Given the description of an element on the screen output the (x, y) to click on. 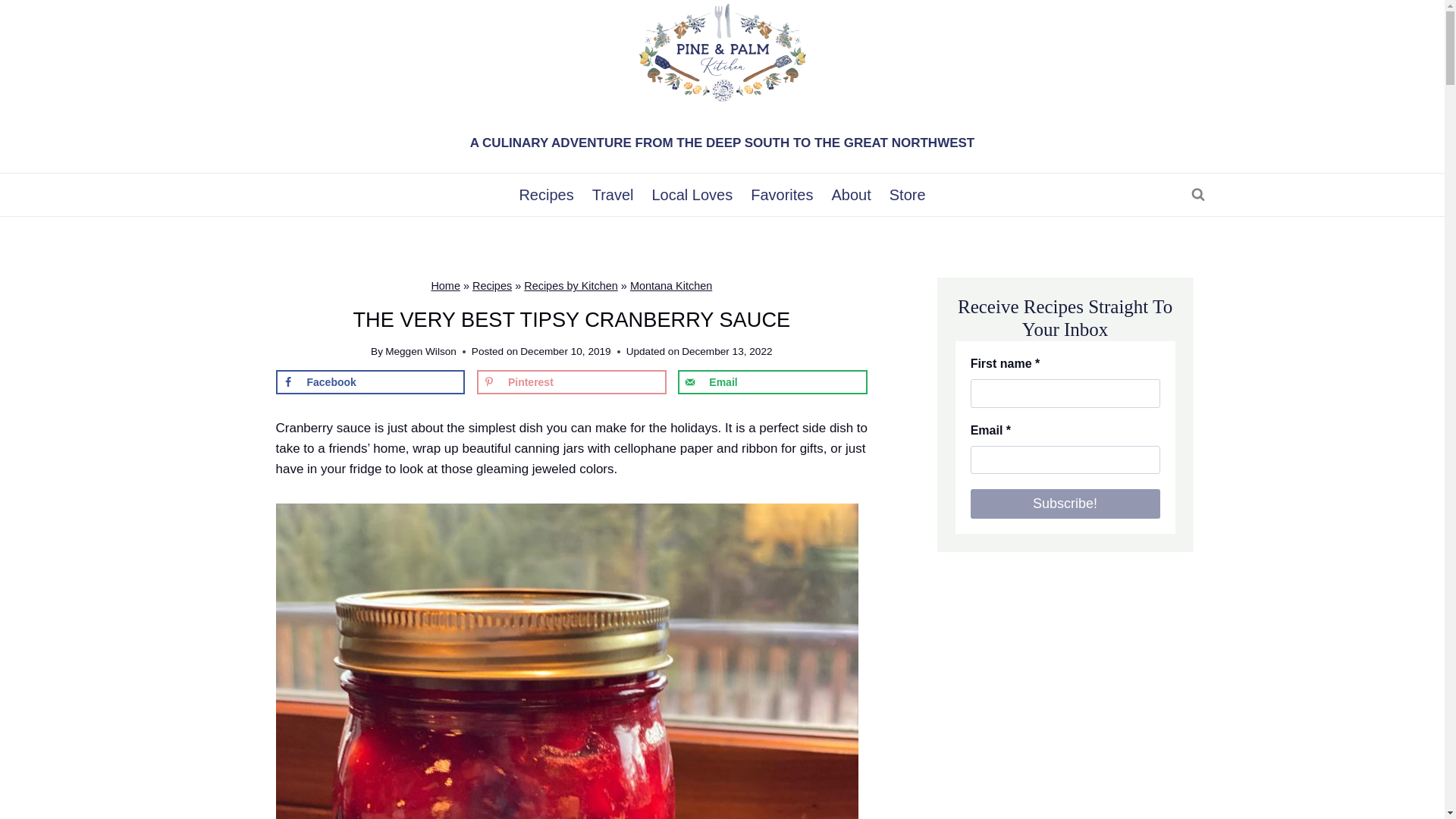
Facebook (370, 381)
Share on Facebook (370, 381)
Favorites (781, 194)
Subscribe! (1065, 503)
Montana Kitchen (670, 285)
Save to Pinterest (571, 381)
Send over email (772, 381)
First name (1065, 393)
Recipes (545, 194)
Email (772, 381)
